Given the description of an element on the screen output the (x, y) to click on. 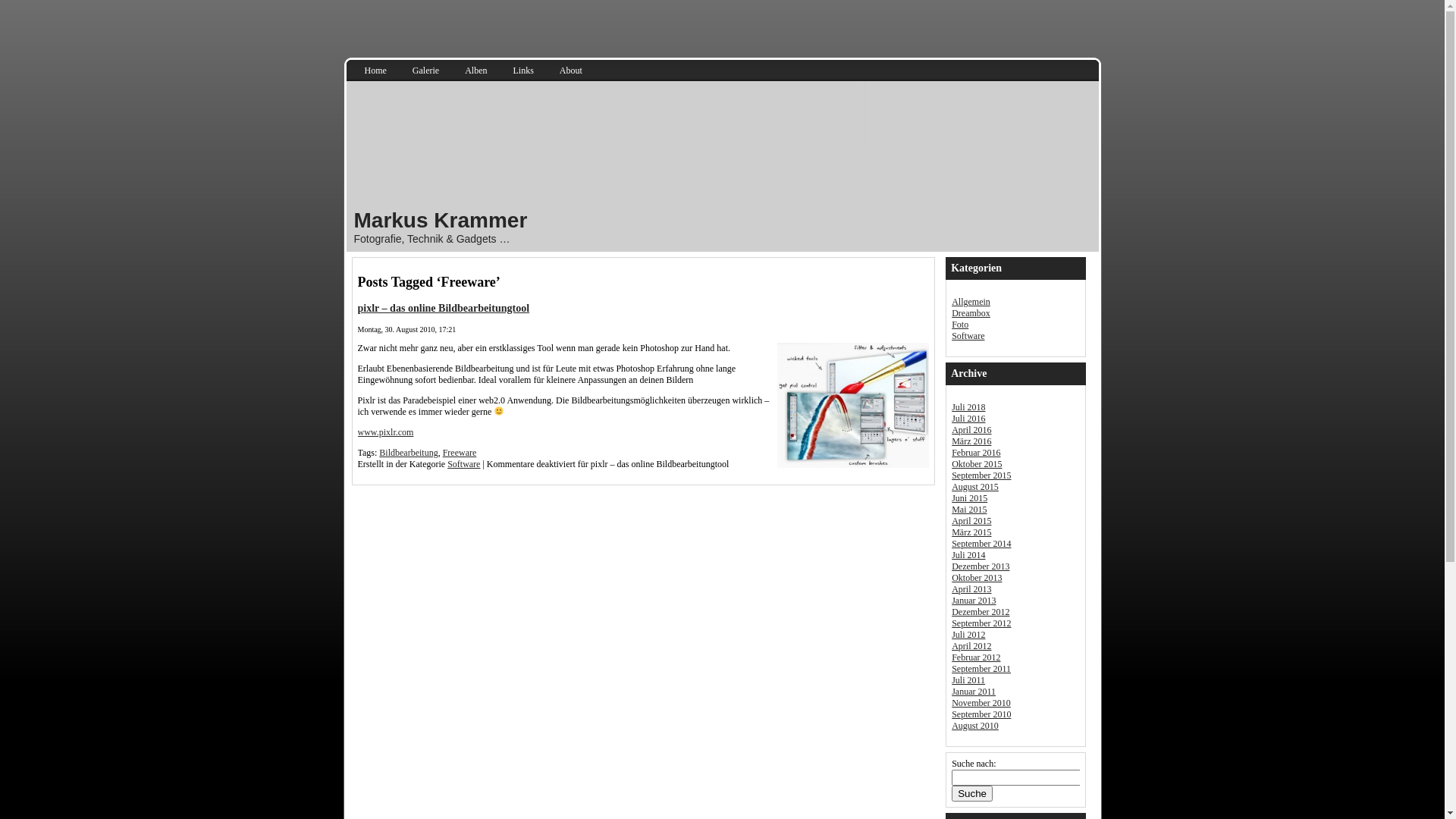
Markus Krammer Element type: text (440, 220)
Oktober 2015 Element type: text (976, 463)
Allgemein Element type: text (970, 301)
Januar 2013 Element type: text (973, 600)
Software Element type: text (967, 335)
About Element type: text (570, 70)
April 2015 Element type: text (971, 520)
Home Element type: text (375, 70)
pixlr Element type: hover (852, 404)
Foto Element type: text (959, 324)
Links Element type: text (522, 70)
Juli 2018 Element type: text (968, 406)
September 2011 Element type: text (980, 668)
April 2012 Element type: text (971, 645)
September 2015 Element type: text (980, 475)
Dezember 2012 Element type: text (980, 611)
Juli 2016 Element type: text (968, 418)
Januar 2011 Element type: text (973, 691)
September 2010 Element type: text (980, 714)
April 2016 Element type: text (971, 429)
Suche Element type: text (971, 793)
Februar 2016 Element type: text (975, 452)
Software Element type: text (463, 463)
August 2010 Element type: text (974, 725)
Juli 2011 Element type: text (968, 679)
November 2010 Element type: text (980, 702)
Oktober 2013 Element type: text (976, 577)
Februar 2012 Element type: text (975, 657)
Bildbearbeitung Element type: text (408, 452)
Dezember 2013 Element type: text (980, 566)
www.pixlr.com Element type: text (385, 431)
August 2015 Element type: text (974, 486)
Juli 2014 Element type: text (968, 554)
Juli 2012 Element type: text (968, 634)
Alben Element type: text (475, 70)
September 2012 Element type: text (980, 623)
Freeware Element type: text (459, 452)
April 2013 Element type: text (971, 588)
Galerie Element type: text (425, 70)
Juni 2015 Element type: text (969, 497)
Dreambox Element type: text (970, 312)
September 2014 Element type: text (980, 543)
Mai 2015 Element type: text (968, 509)
